Given the description of an element on the screen output the (x, y) to click on. 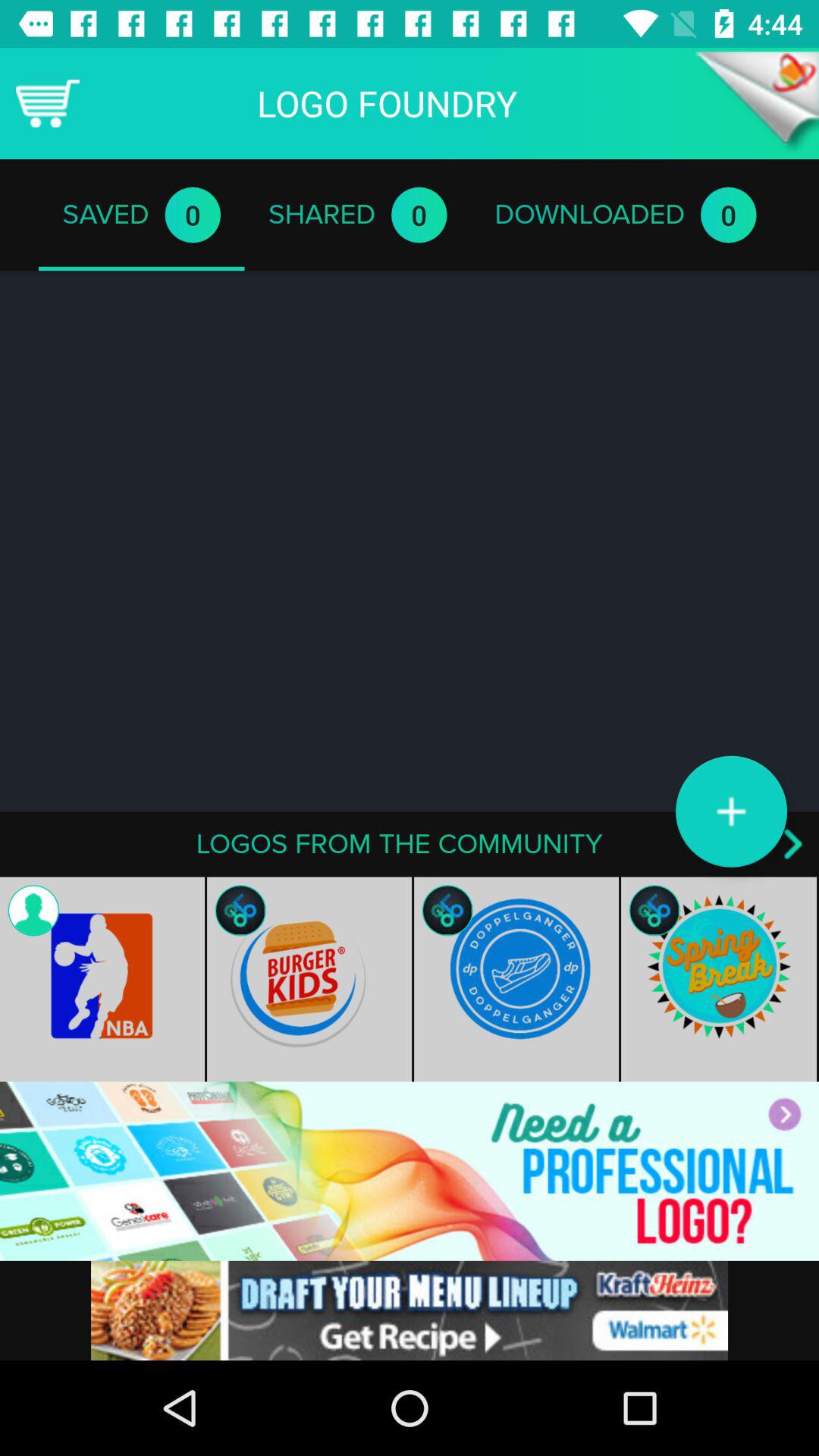
go to advertisement website (409, 1170)
